Given the description of an element on the screen output the (x, y) to click on. 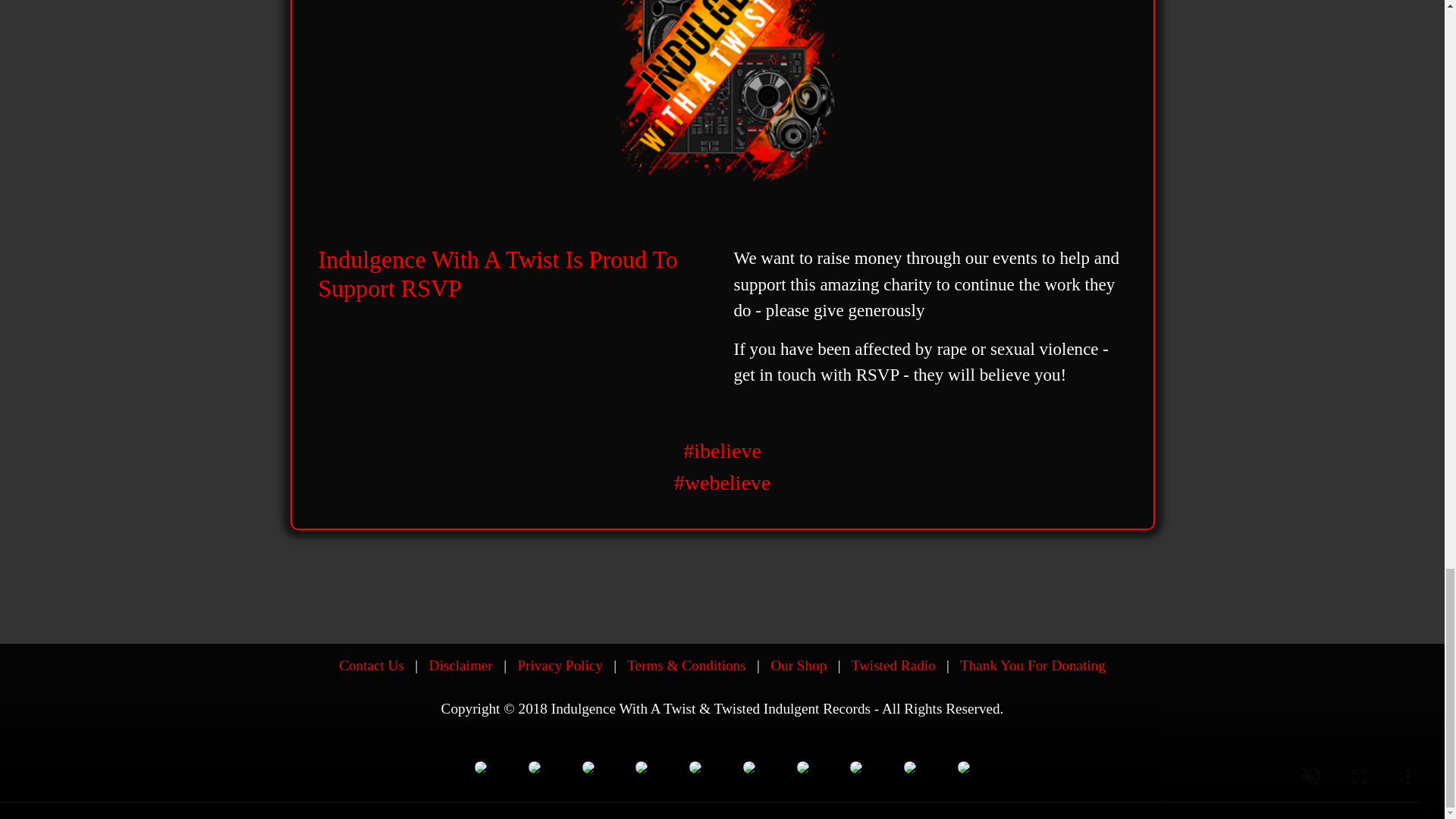
Go to the Indulgence With A Twist Events Instagram page (748, 765)
Go to the Indulgence With A Twist Facebook page (480, 765)
Go to the Indulgence With A Twist Linktree page (694, 765)
Go to the Indulgently Twisted Events Facebook page (587, 765)
Go to the Indulgence With A Twist Instagram page (640, 765)
Go to the Indulgence With A Twist Twitch page (855, 765)
Go to the Indulgence With A Twist TikTok page (802, 765)
Go to the Indulgence With A Twist Twitter page (534, 765)
Go to the Indulgence With A Twist BLogspot page (909, 765)
Go to the Indulgence With A Twist YouTube page (963, 765)
